Given the description of an element on the screen output the (x, y) to click on. 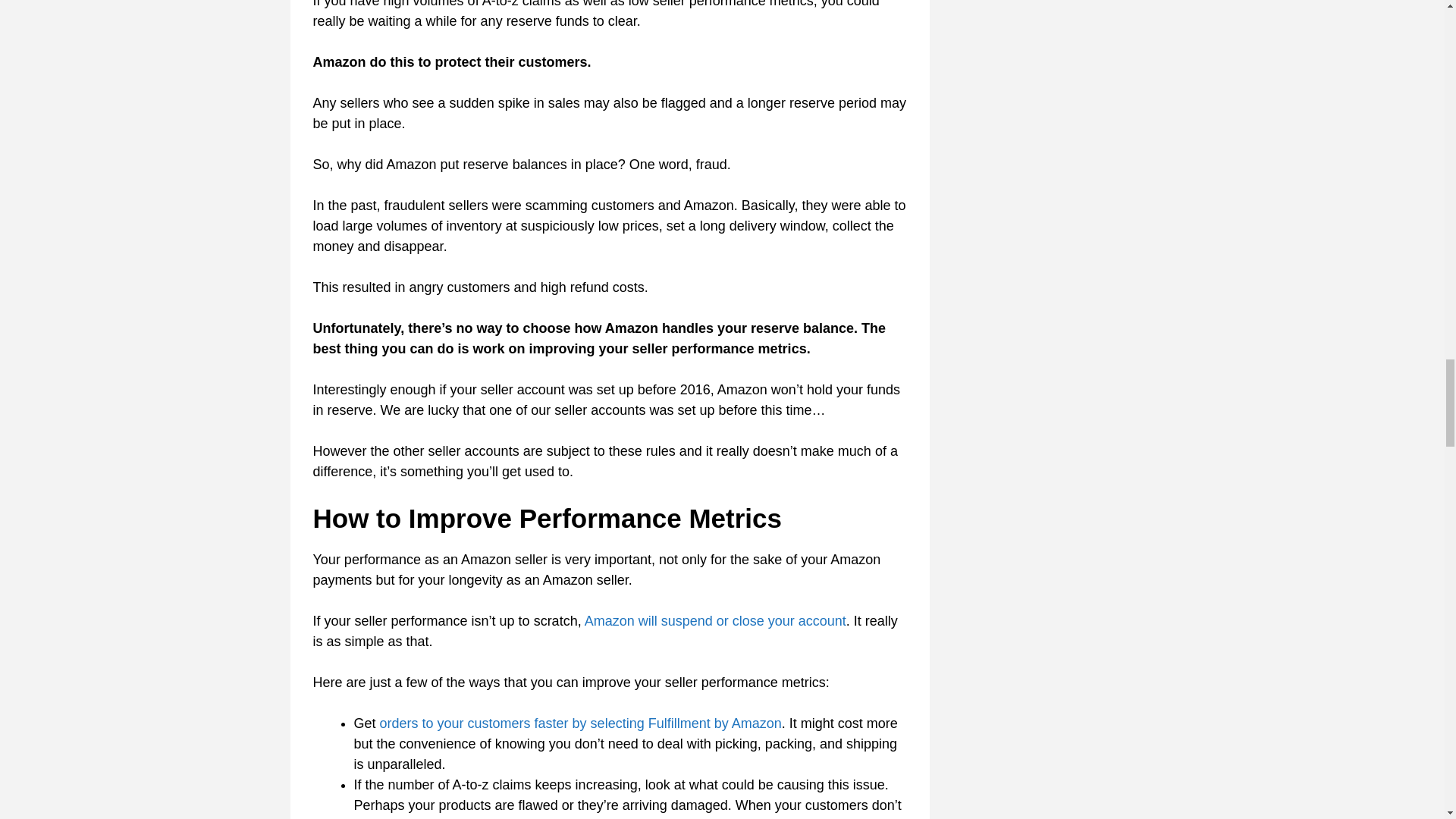
Amazon will suspend or close your account (715, 620)
